Given the description of an element on the screen output the (x, y) to click on. 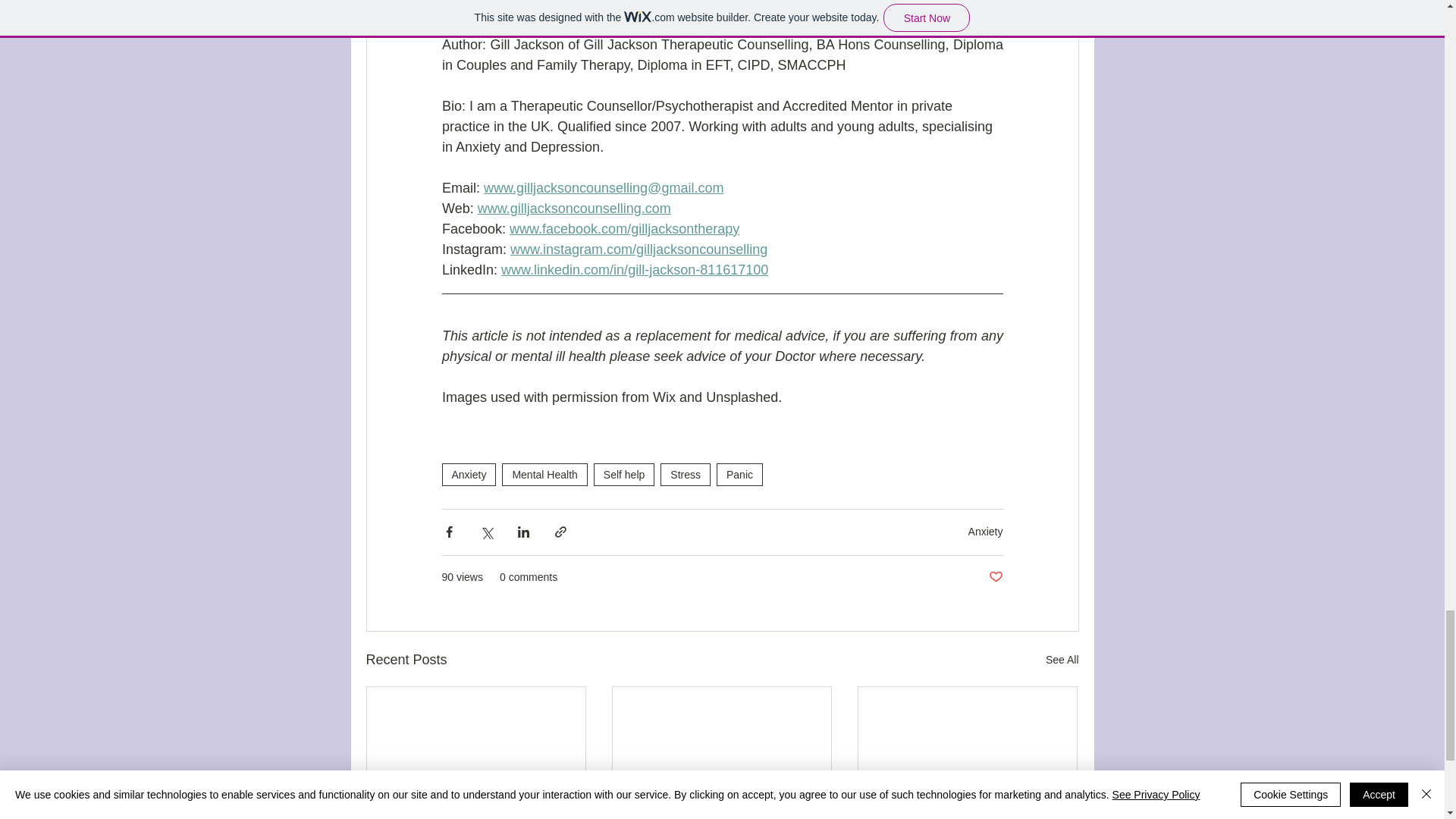
Self help (623, 474)
Anxiety (468, 474)
Stress (685, 474)
Panic (739, 474)
www.gilljacksoncounselling.com (573, 208)
Mental Health (544, 474)
